Given the description of an element on the screen output the (x, y) to click on. 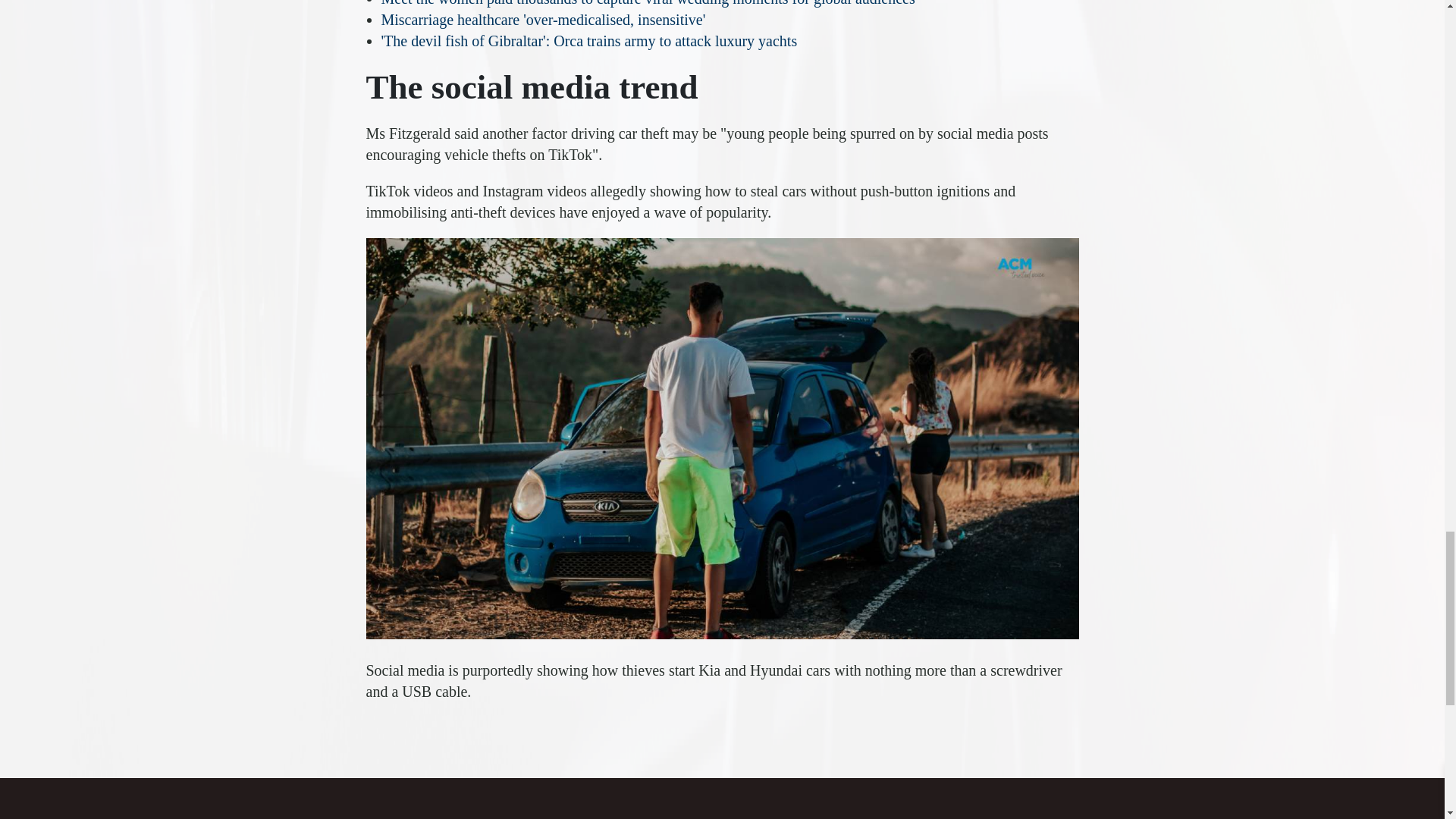
Miscarriage healthcare 'over-medicalised, insensitive' (542, 19)
